Given the description of an element on the screen output the (x, y) to click on. 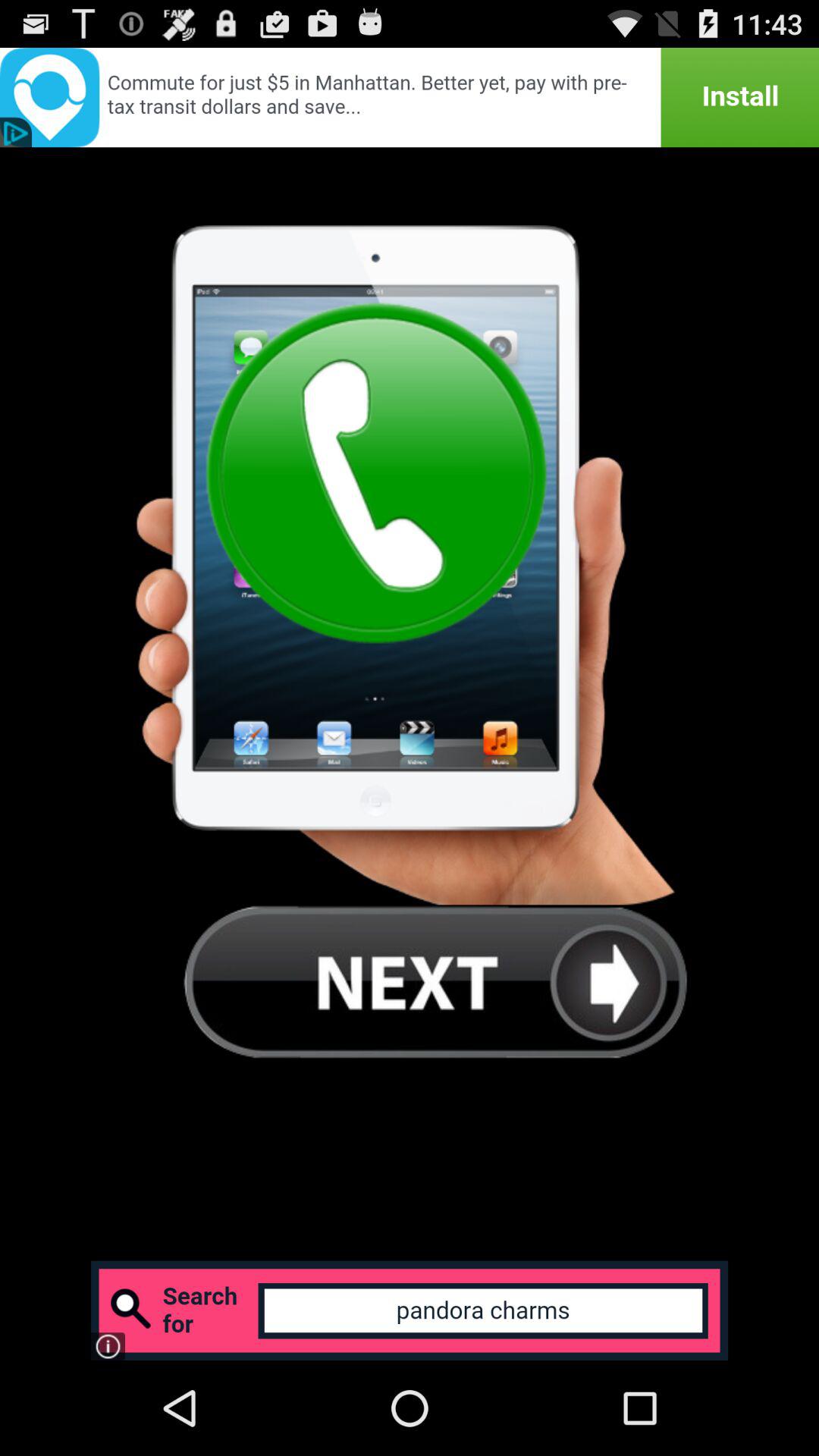
see details of other app (409, 97)
